Given the description of an element on the screen output the (x, y) to click on. 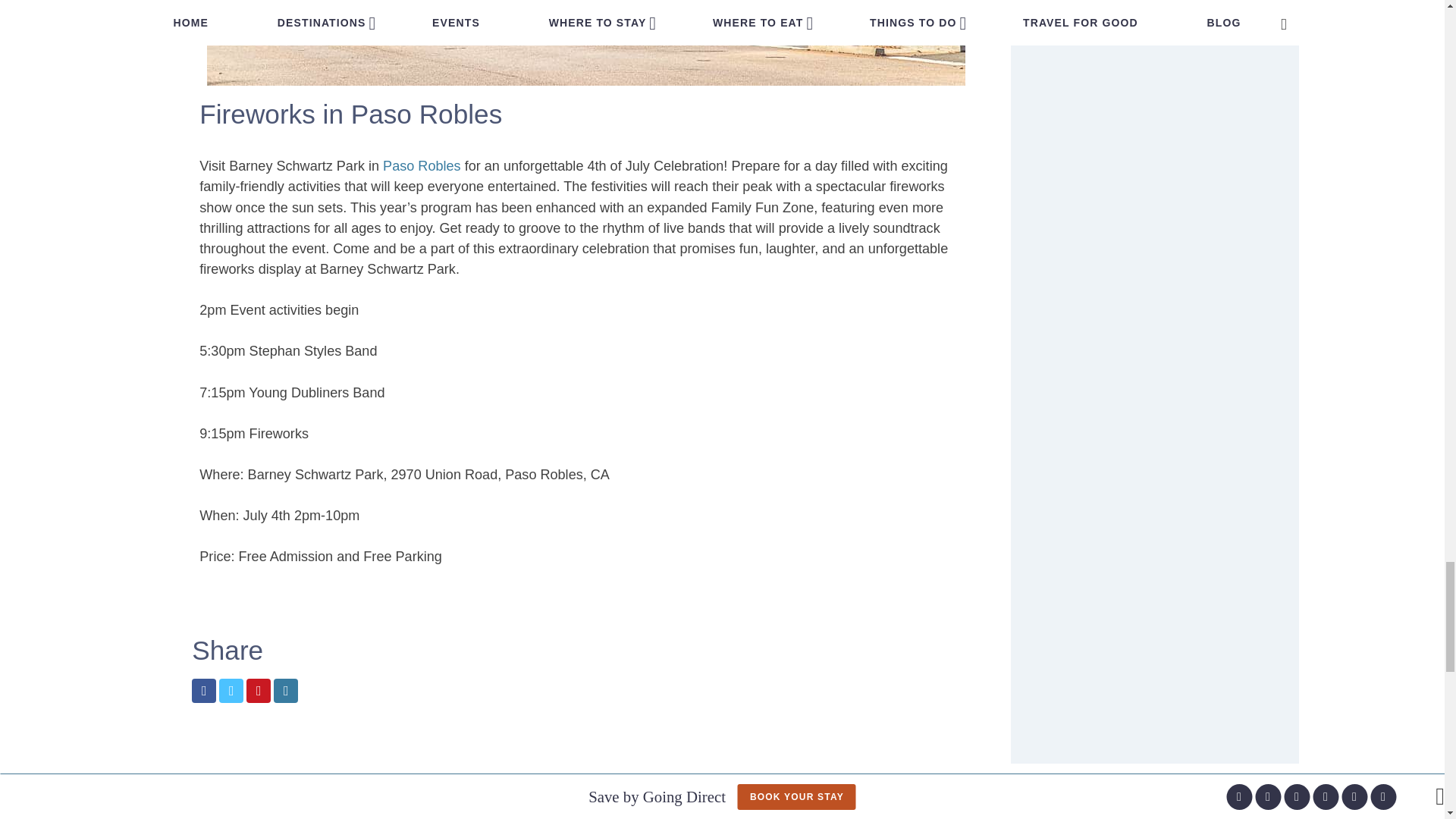
Share on Twitter (231, 690)
Share on Pinterest (258, 690)
Share by Email (285, 690)
Share on Facebook (203, 690)
